Given the description of an element on the screen output the (x, y) to click on. 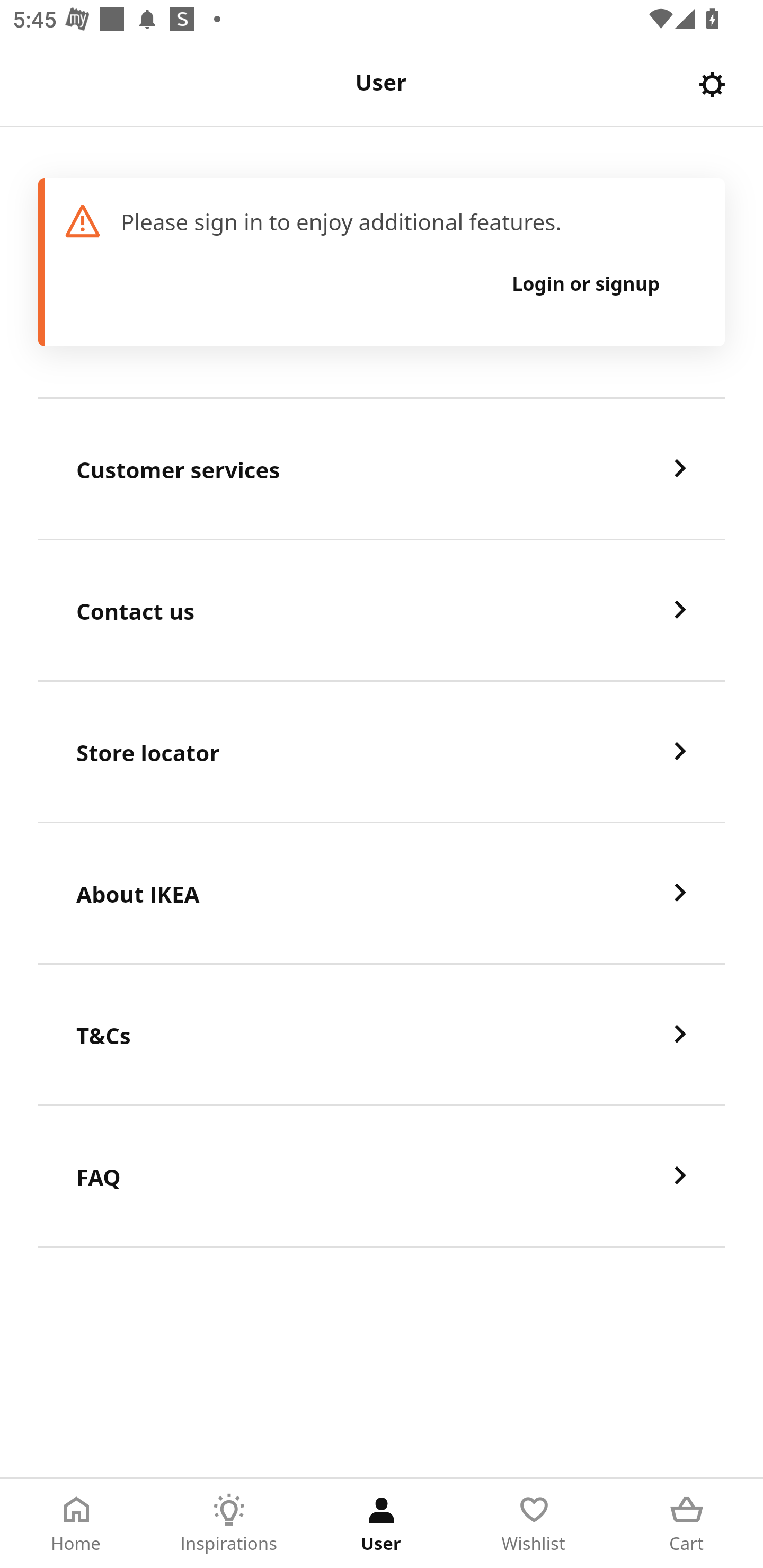
Login or signup (586, 282)
Customer services (381, 469)
Contact us (381, 611)
Store locator (381, 752)
About IKEA (381, 893)
T&Cs (381, 1034)
FAQ (381, 1176)
Home
Tab 1 of 5 (76, 1522)
Inspirations
Tab 2 of 5 (228, 1522)
User
Tab 3 of 5 (381, 1522)
Wishlist
Tab 4 of 5 (533, 1522)
Cart
Tab 5 of 5 (686, 1522)
